Given the description of an element on the screen output the (x, y) to click on. 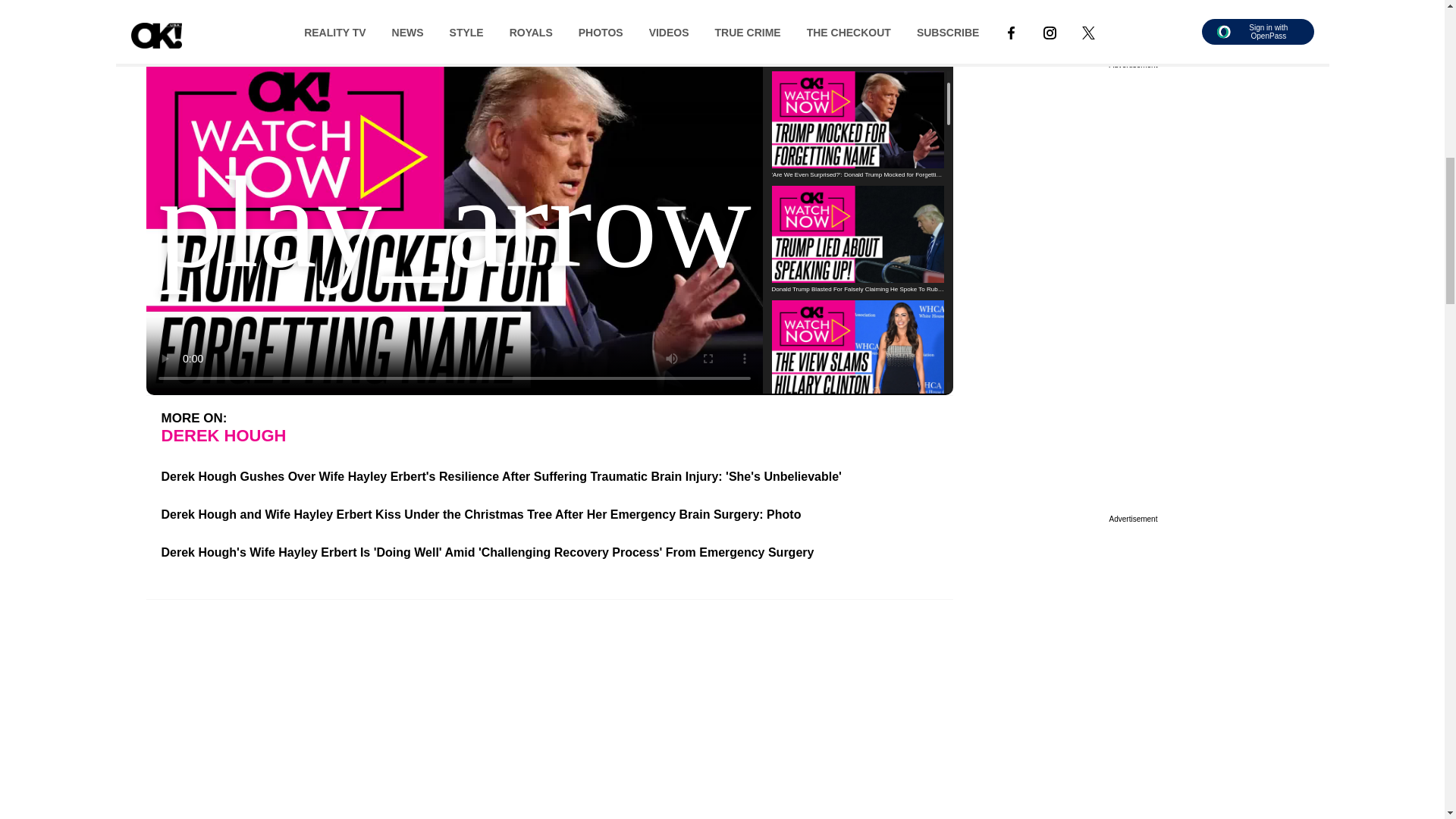
more (609, 23)
